Given the description of an element on the screen output the (x, y) to click on. 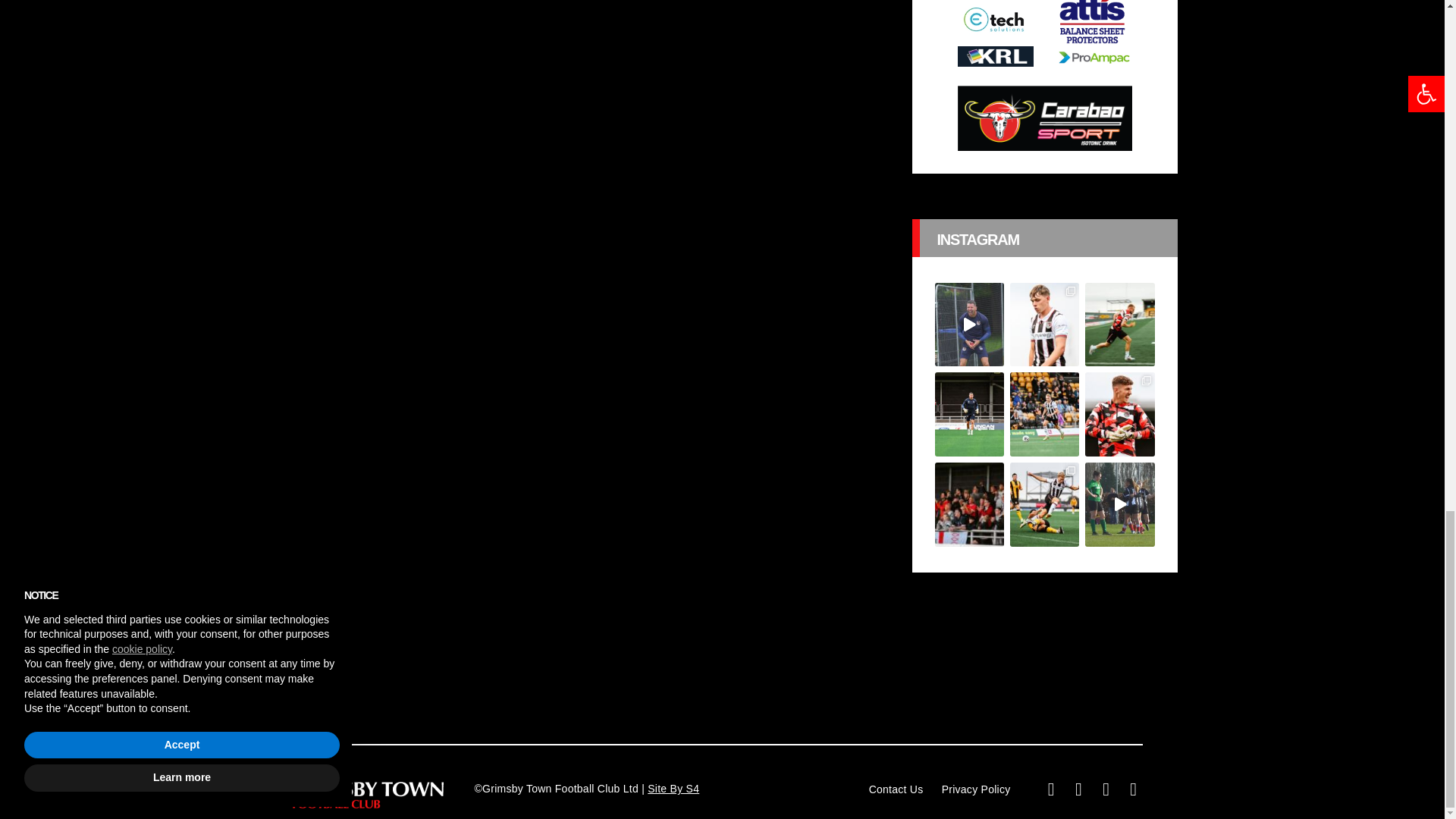
footerlogo.png (366, 794)
